Given the description of an element on the screen output the (x, y) to click on. 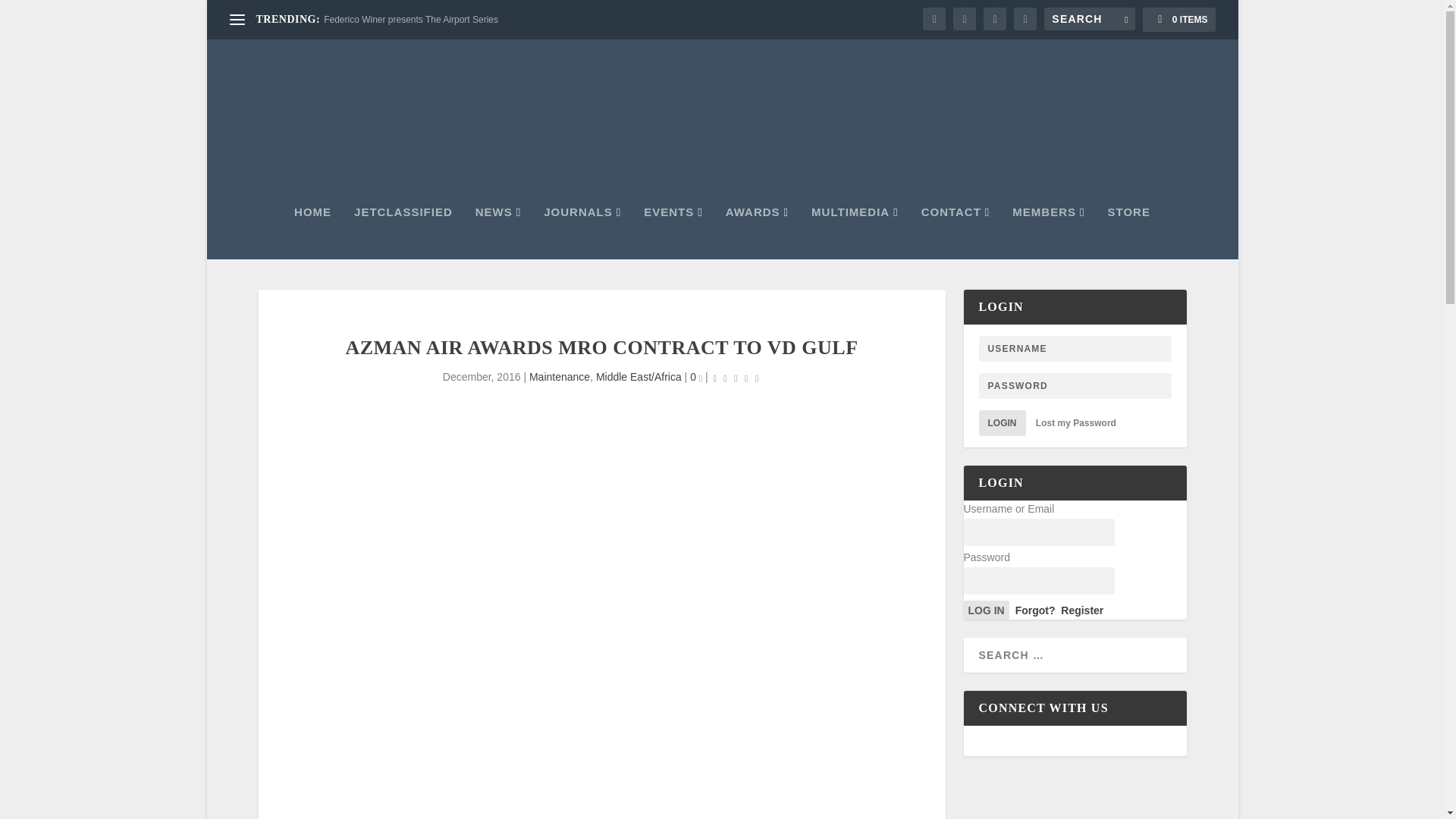
Federico Winer presents The Airport Series (410, 19)
log in (985, 609)
JOURNALS (582, 232)
Rating: 0.00 (736, 377)
JETCLASSIFIED (402, 232)
